Given the description of an element on the screen output the (x, y) to click on. 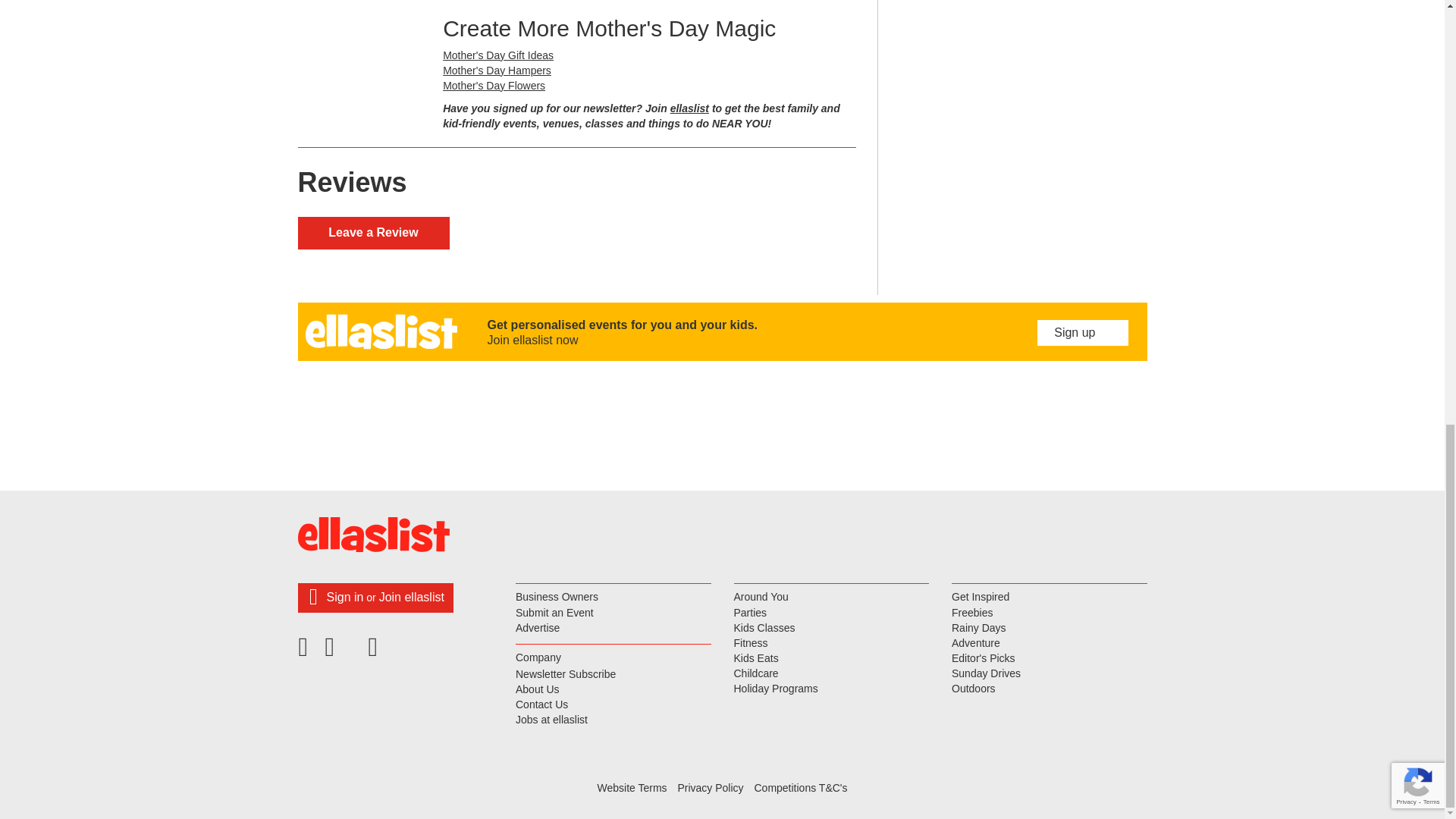
Facebook (306, 652)
About Us (613, 689)
Mother's Day Flowers (493, 85)
Mother's Day Hampers (496, 70)
ellaslist (689, 108)
Submit an Event (613, 613)
Sign in (344, 596)
Instagram (375, 652)
Contact Us (613, 704)
